Given the description of an element on the screen output the (x, y) to click on. 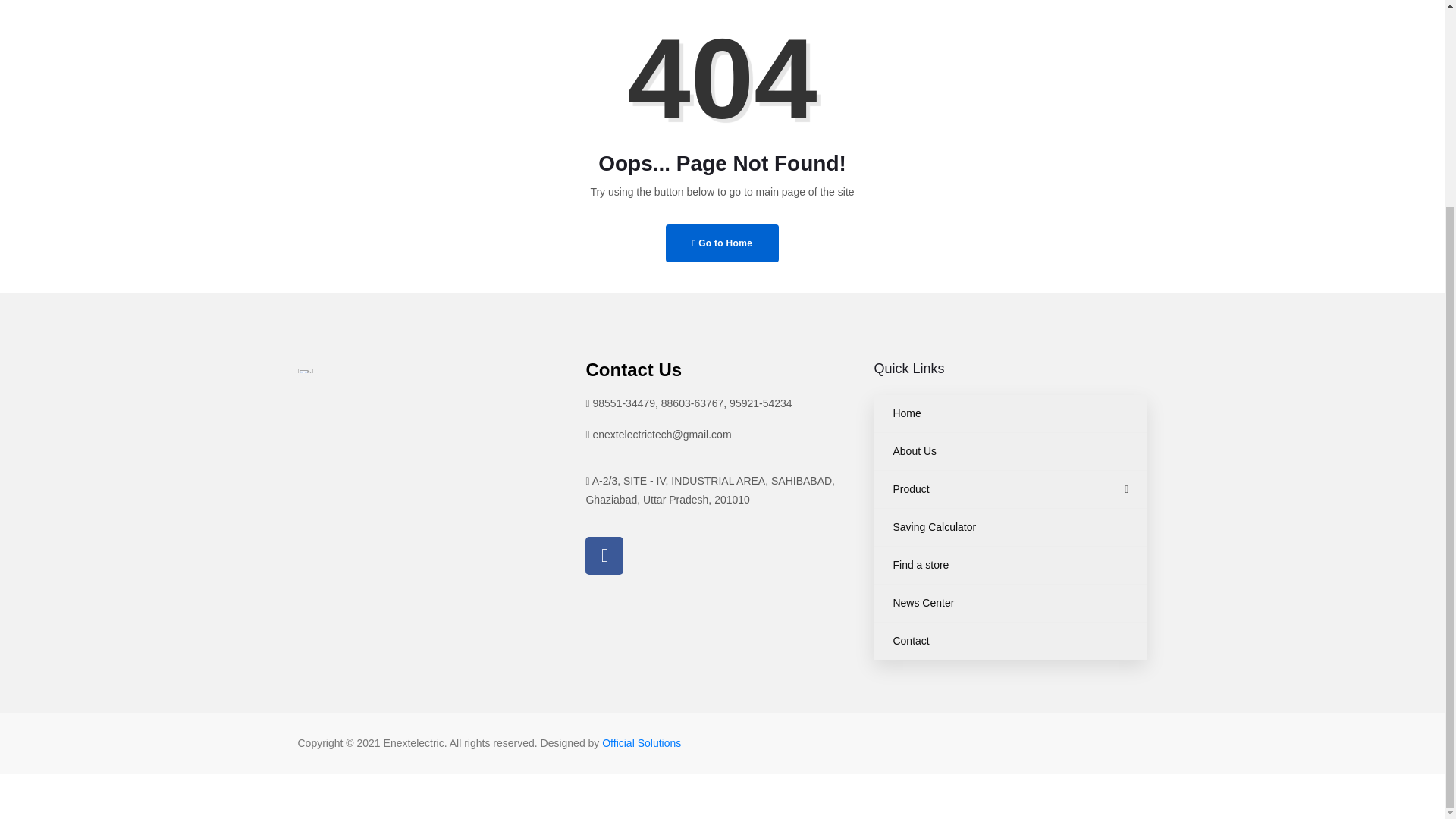
Product (1010, 488)
About Us (1010, 451)
Home (1010, 413)
Go to Home (721, 243)
